Given the description of an element on the screen output the (x, y) to click on. 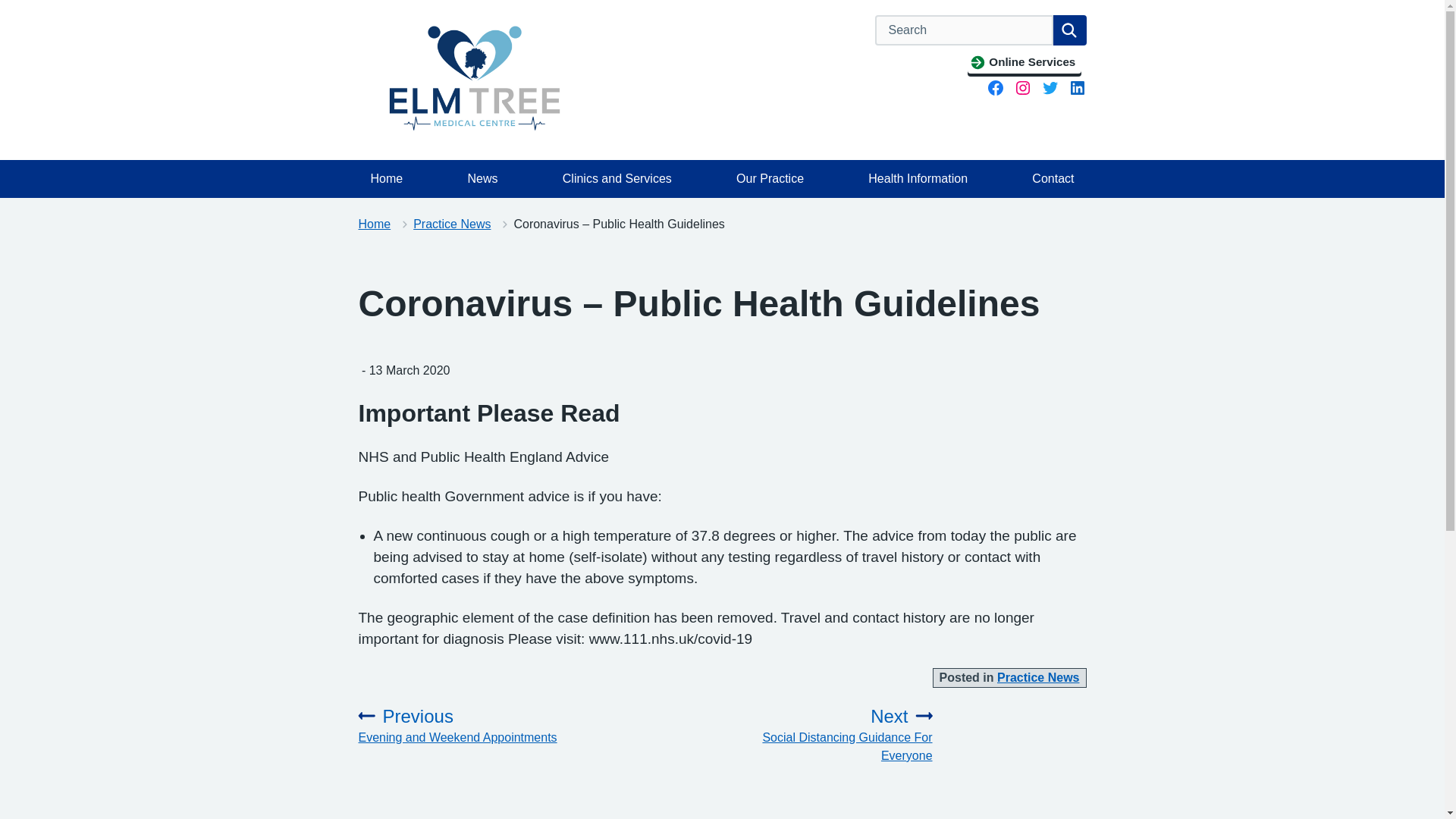
News (481, 178)
Instagram (1021, 87)
Our Practice (769, 178)
Home (386, 178)
Online Services  (1024, 61)
Health Information (917, 178)
Home (374, 223)
Contact (1053, 178)
Clinics and Services (617, 178)
Practice News (451, 223)
